Given the description of an element on the screen output the (x, y) to click on. 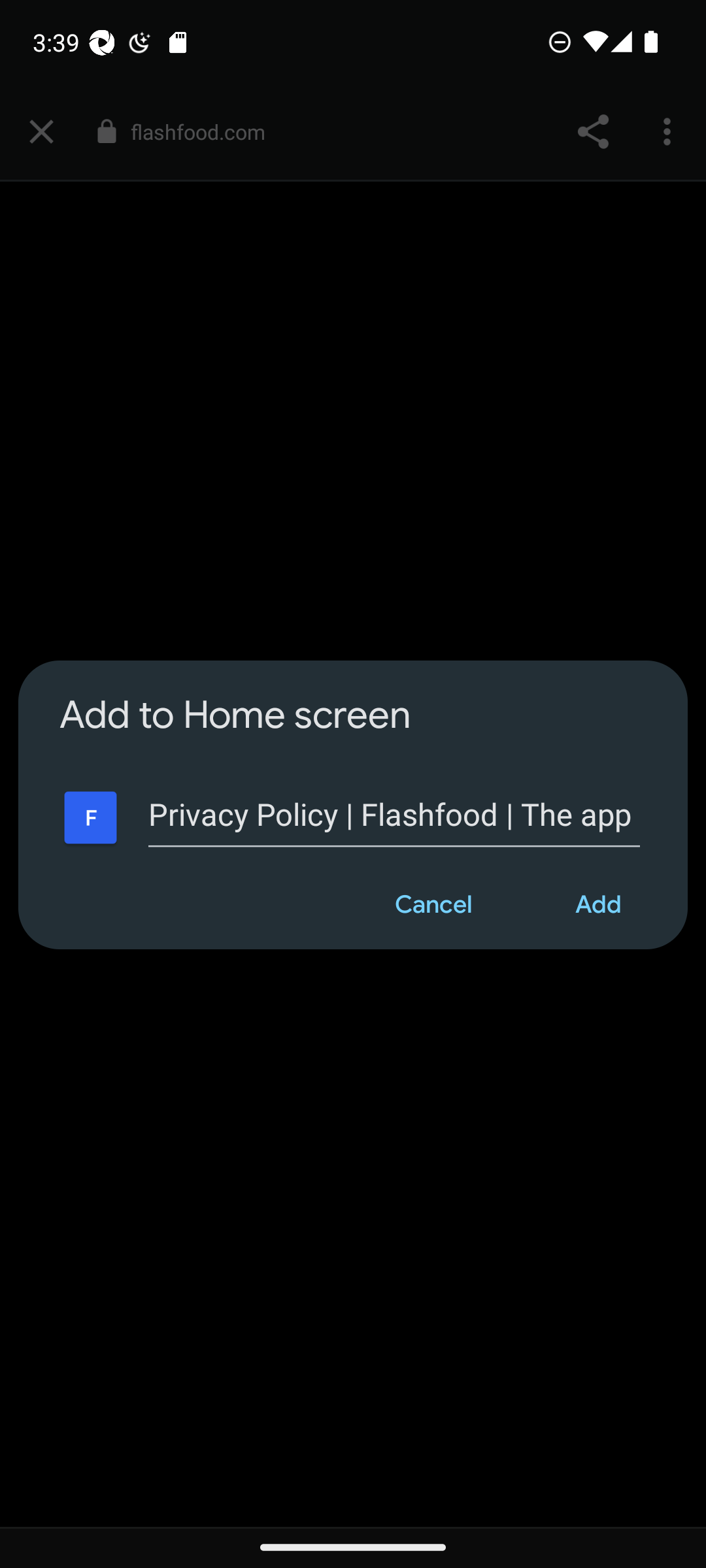
Cancel (433, 904)
Add (598, 904)
